Given the description of an element on the screen output the (x, y) to click on. 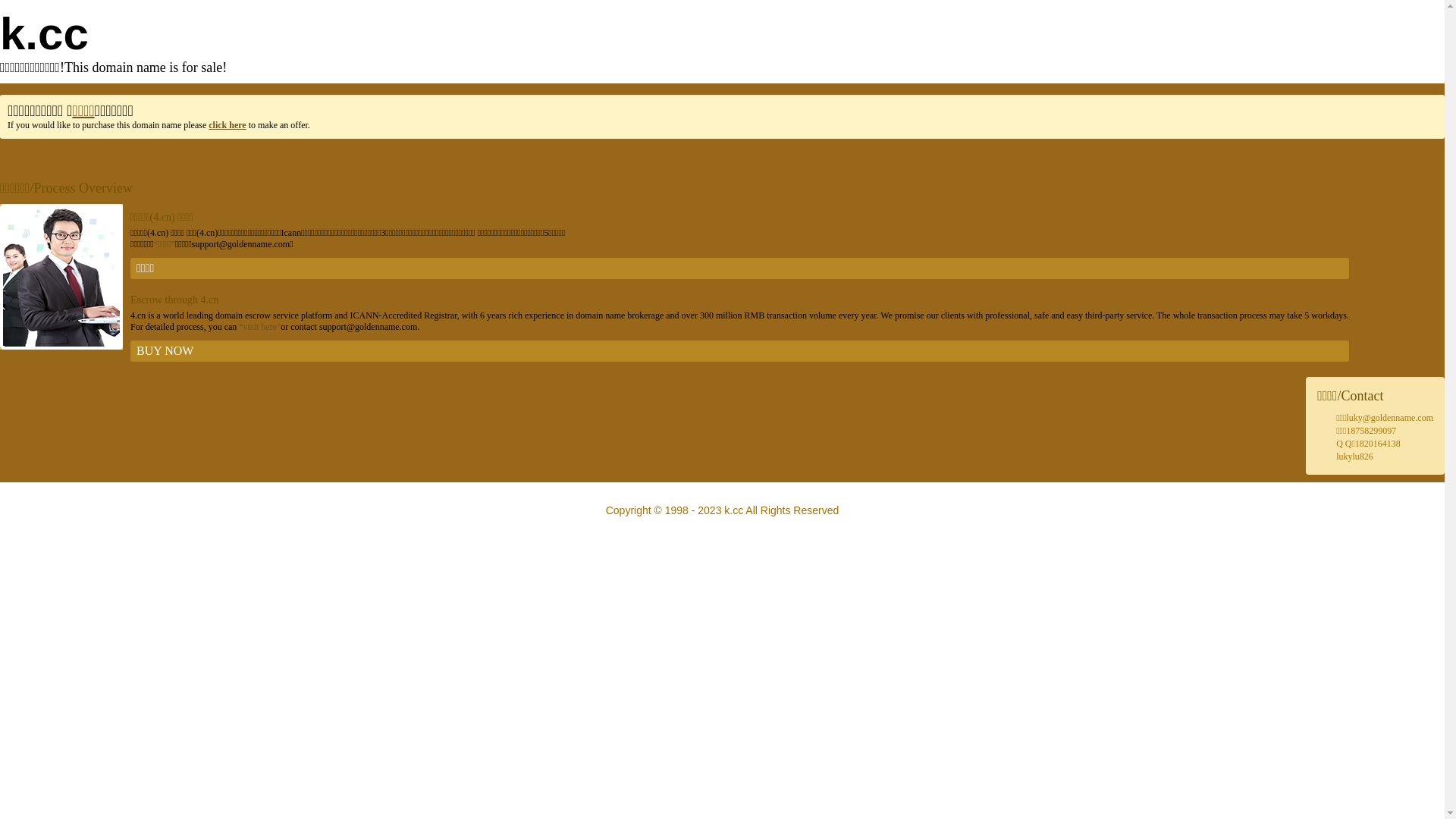
click here Element type: text (226, 124)
BUY NOW Element type: text (739, 350)
